Given the description of an element on the screen output the (x, y) to click on. 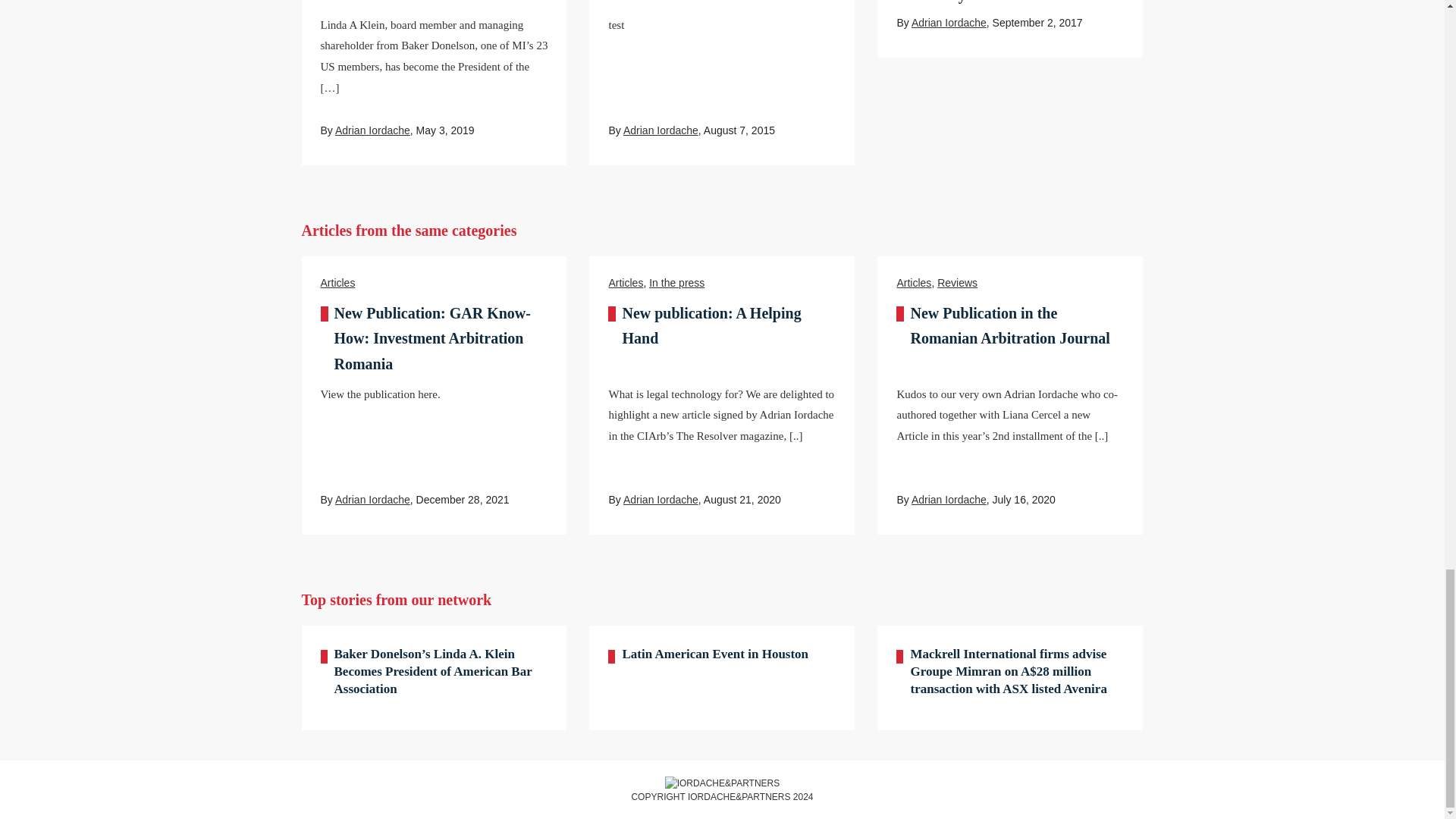
Posts by Adrian Iordache (660, 499)
Posts by Adrian Iordache (949, 499)
Posts by Adrian Iordache (372, 499)
Adrian Iordache (372, 130)
